Given the description of an element on the screen output the (x, y) to click on. 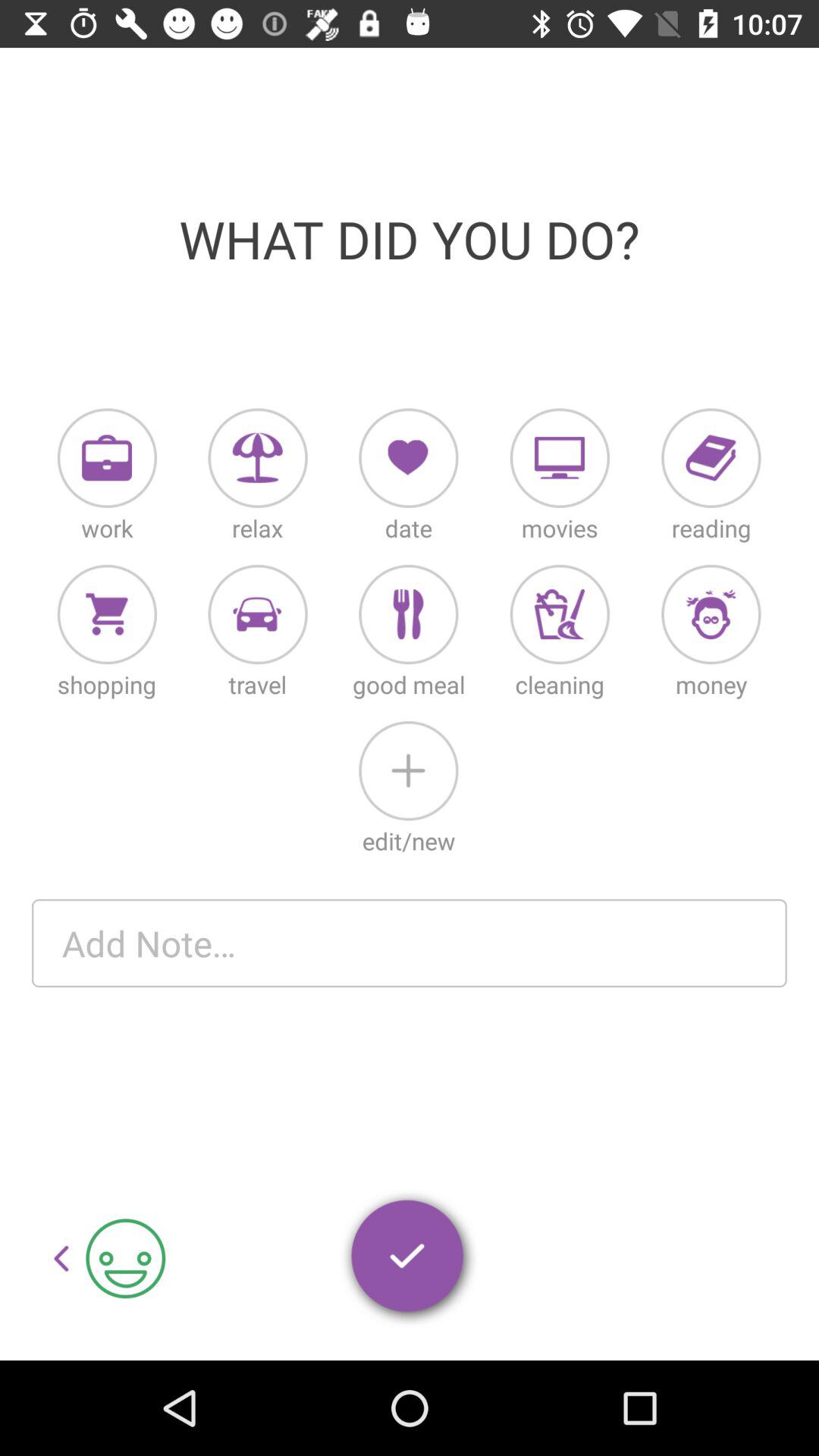
cleaning button (559, 614)
